Given the description of an element on the screen output the (x, y) to click on. 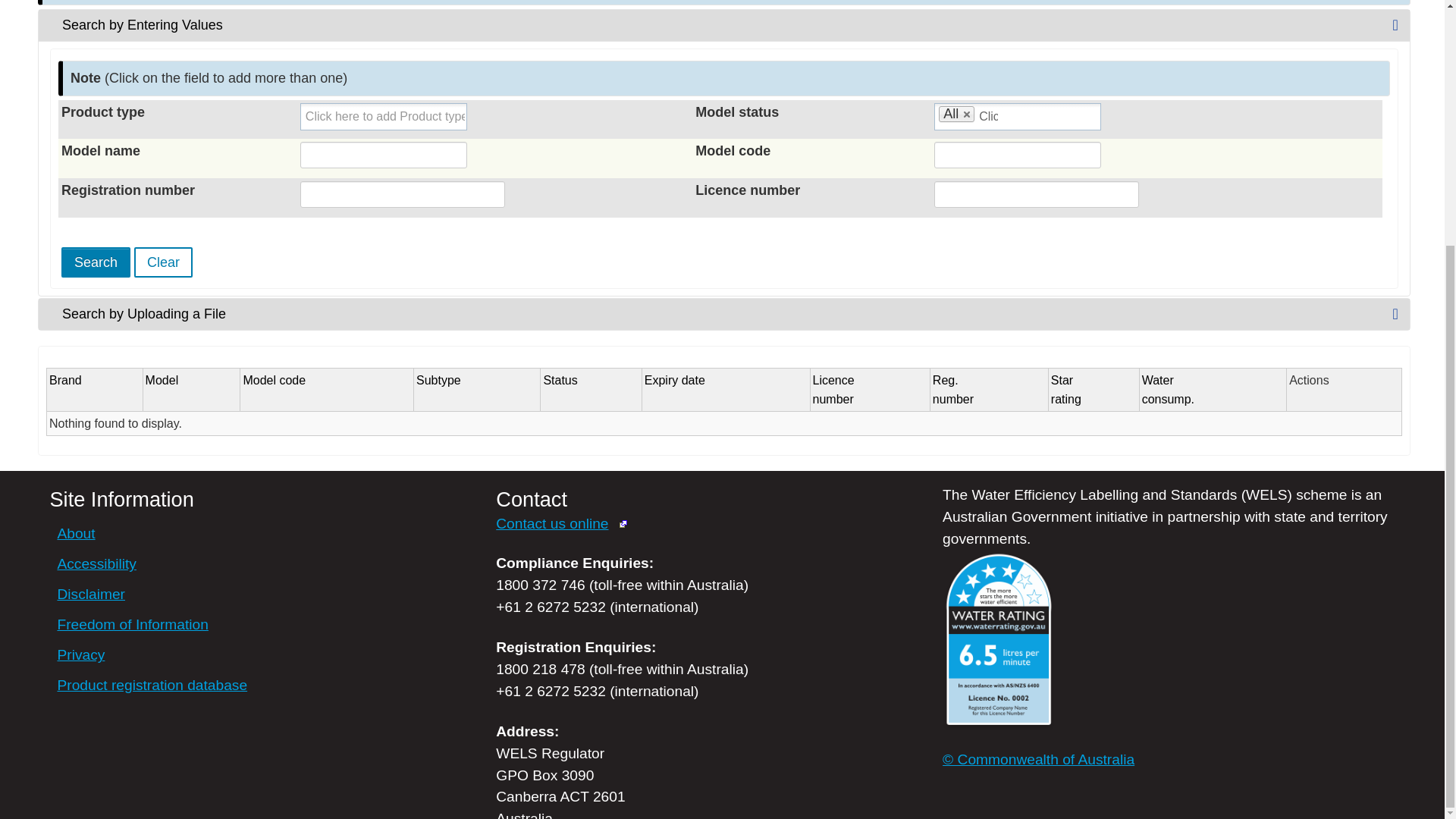
Status (559, 379)
About (75, 533)
Click here to add Product type... (384, 116)
Expiry date (674, 379)
Brand (1066, 389)
Search (65, 379)
Search by Uploading a File (1167, 389)
Clear (96, 262)
Model (724, 314)
Search (833, 389)
Contact us online (162, 262)
Search by Entering Values (162, 379)
